Given the description of an element on the screen output the (x, y) to click on. 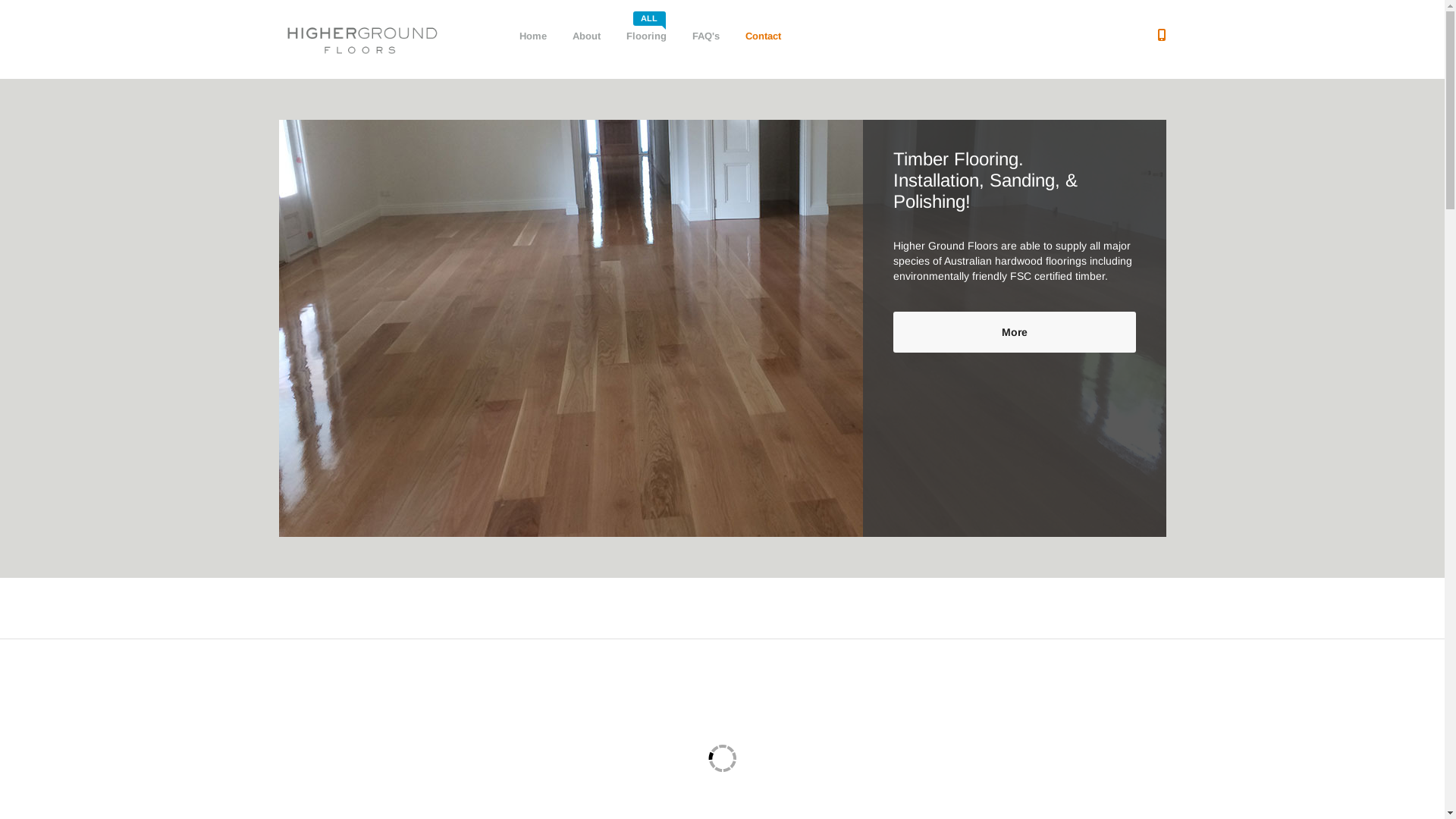
Flooring
ALL Element type: text (646, 36)
FAQ's Element type: text (704, 36)
Home Element type: text (532, 36)
Contact Element type: text (762, 36)
More Element type: text (1014, 331)
About Element type: text (585, 36)
